Given the description of an element on the screen output the (x, y) to click on. 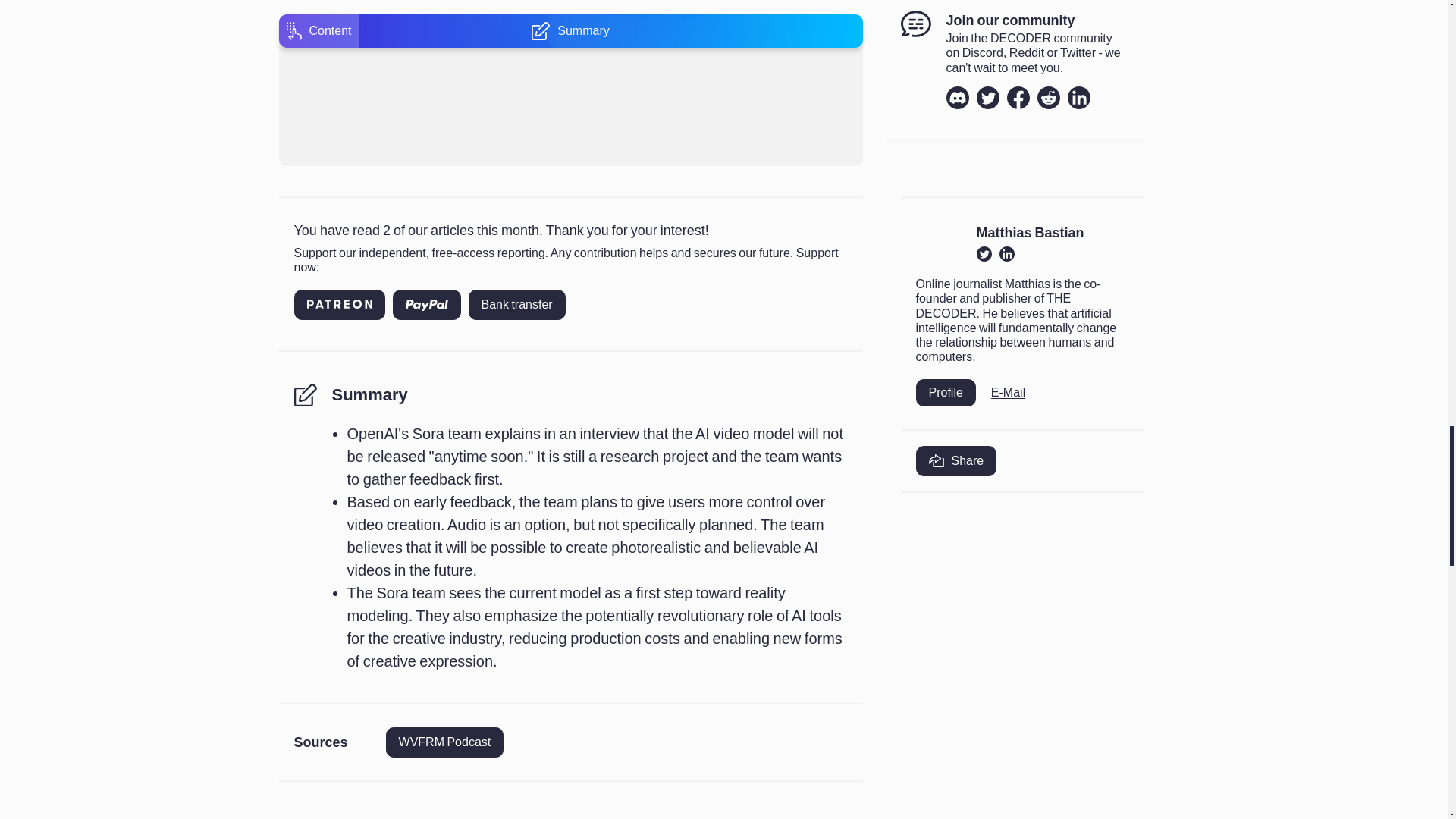
Matthias Bastian (1030, 233)
Email (1008, 391)
Twitter (987, 97)
LinkedIn (1078, 97)
Profile (945, 392)
Reddit (1047, 97)
WVFRM Podcast (444, 742)
Discord (957, 97)
E-Mail (1008, 391)
Facebook (1018, 97)
